Given the description of an element on the screen output the (x, y) to click on. 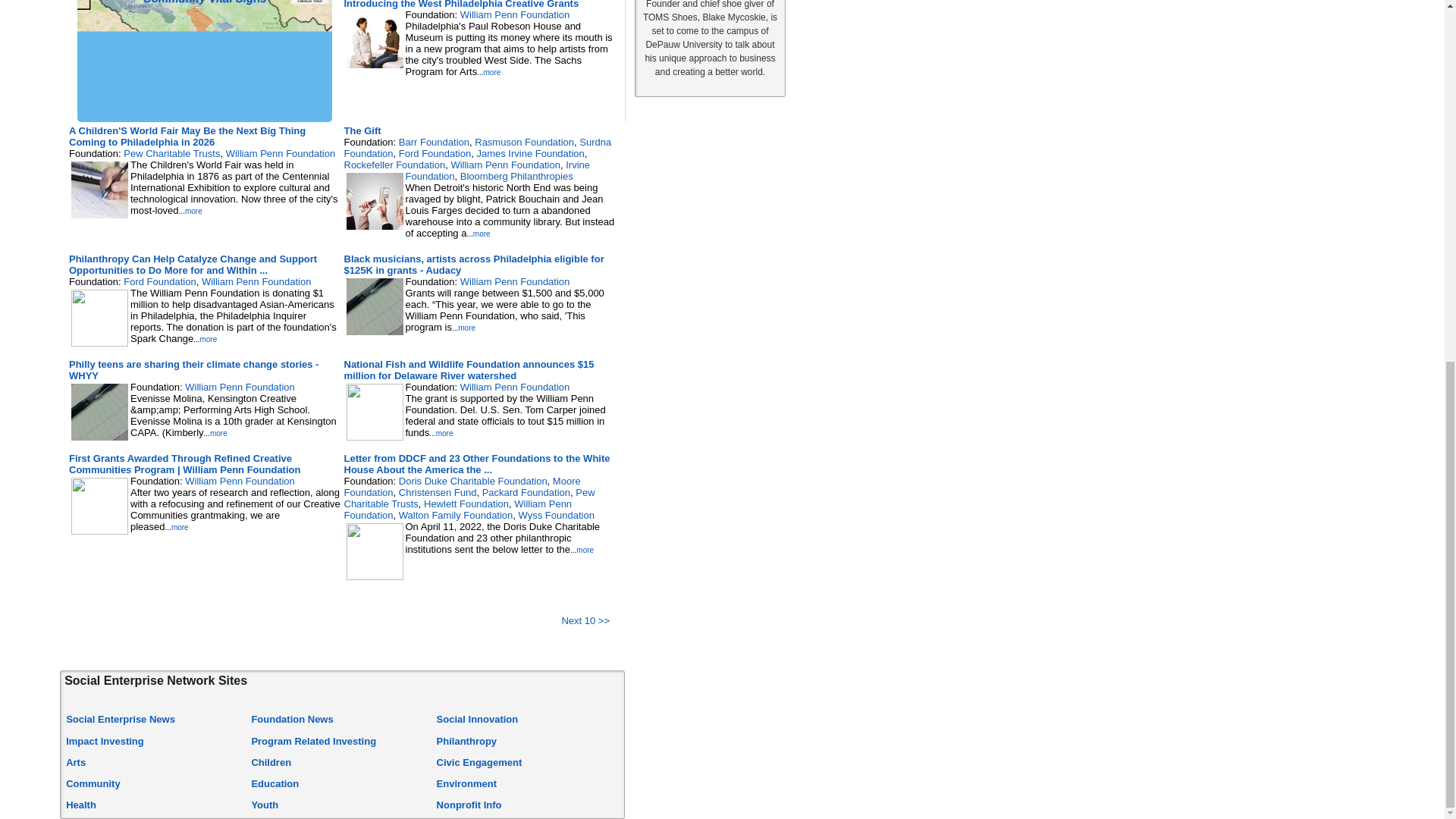
Rasmuson Foundation (523, 142)
William Penn Foundation (280, 153)
Pew Charitable Trusts (171, 153)
William Penn Foundation (504, 164)
James Irvine Foundation (529, 153)
Introducing the West Philadelphia Creative Grants (461, 4)
The Gift (362, 130)
more (491, 71)
Barr Foundation (433, 142)
